Given the description of an element on the screen output the (x, y) to click on. 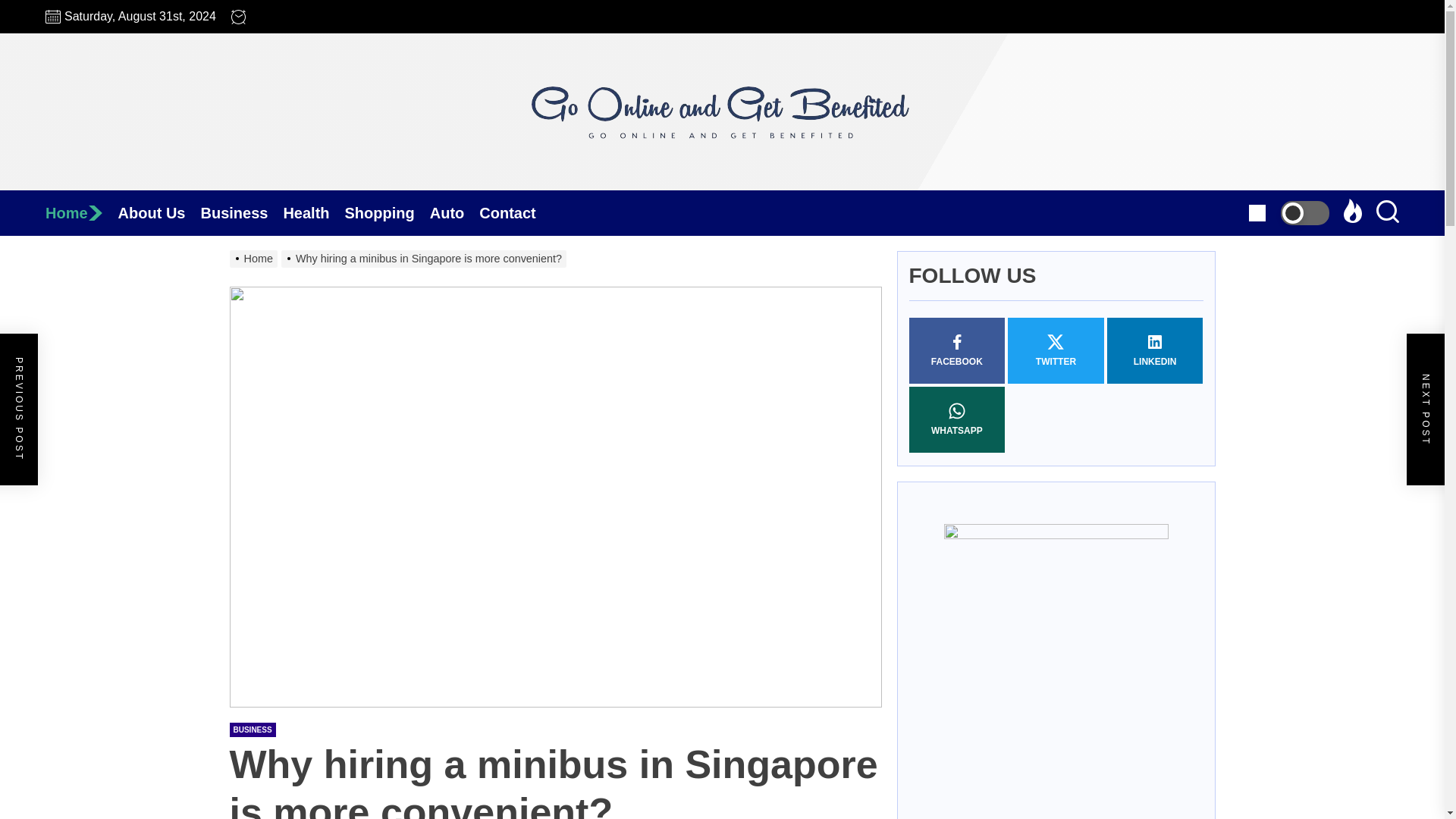
Go Online and Get Benefited (721, 215)
Home (81, 212)
Home (81, 212)
Contact (514, 212)
About Us (158, 212)
Health (312, 212)
Shopping (387, 212)
Business (241, 212)
Auto (454, 212)
